Given the description of an element on the screen output the (x, y) to click on. 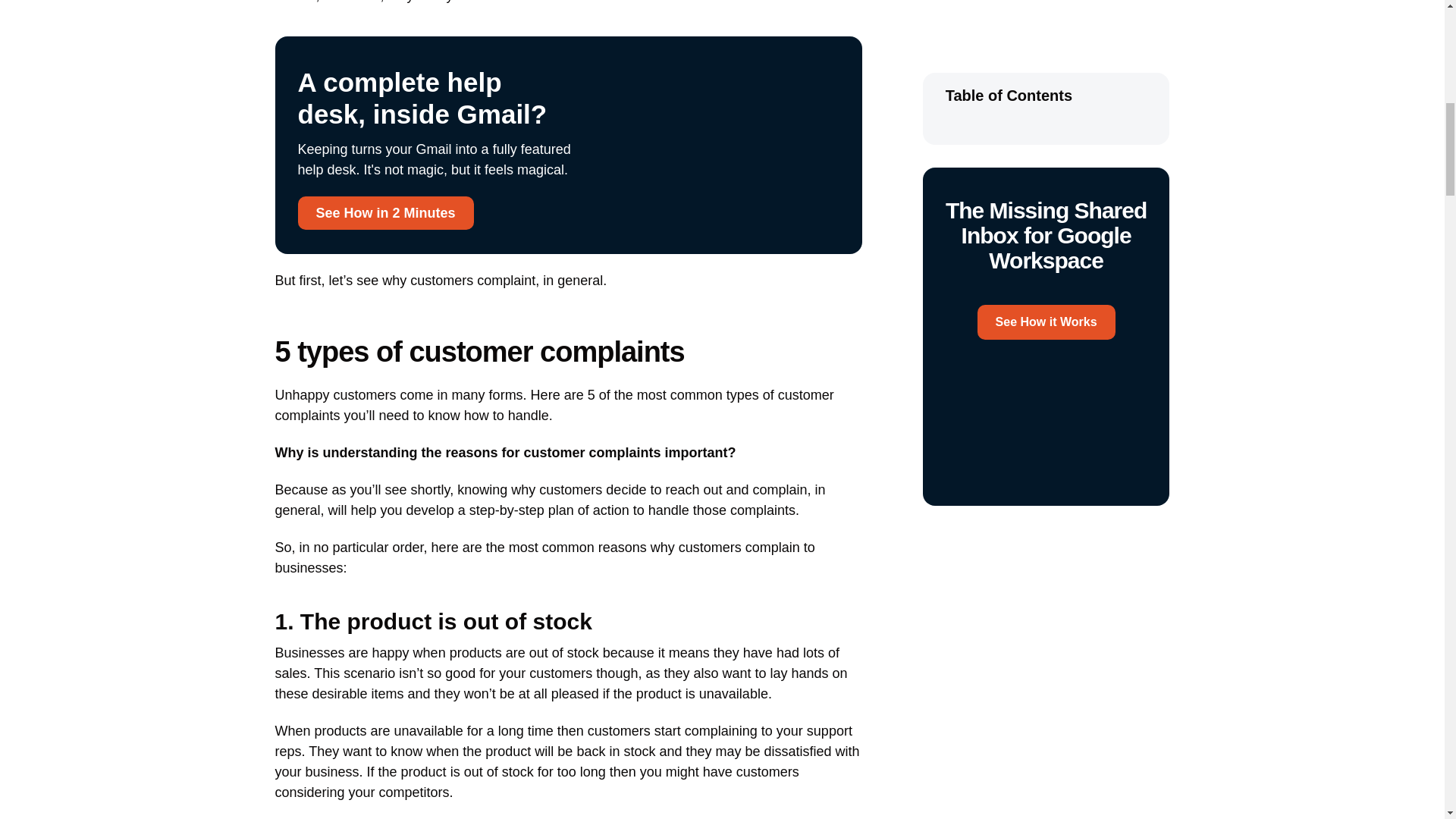
blog-post-sidebar-cta (1045, 102)
